Given the description of an element on the screen output the (x, y) to click on. 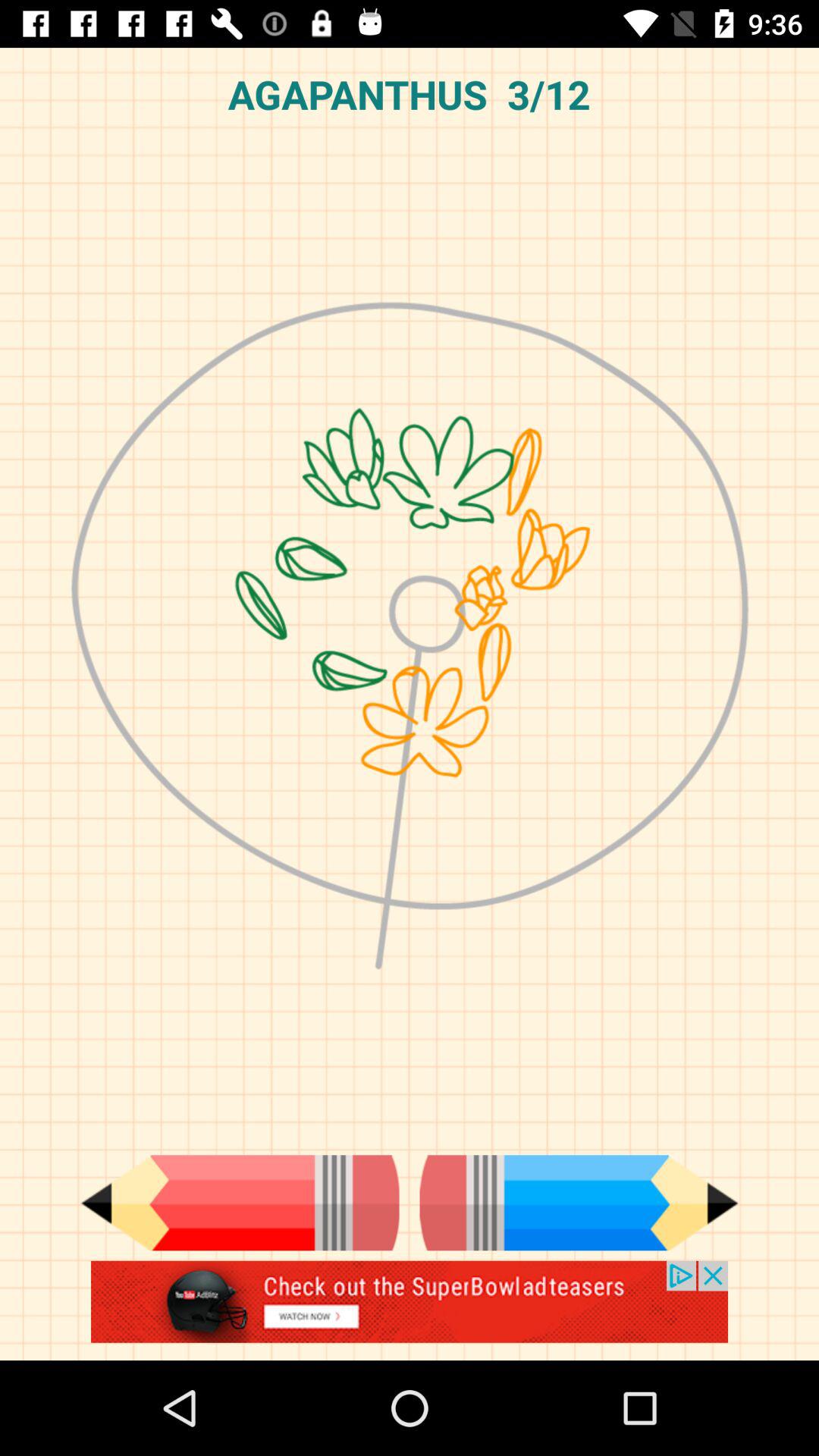
next page button (578, 1202)
